Given the description of an element on the screen output the (x, y) to click on. 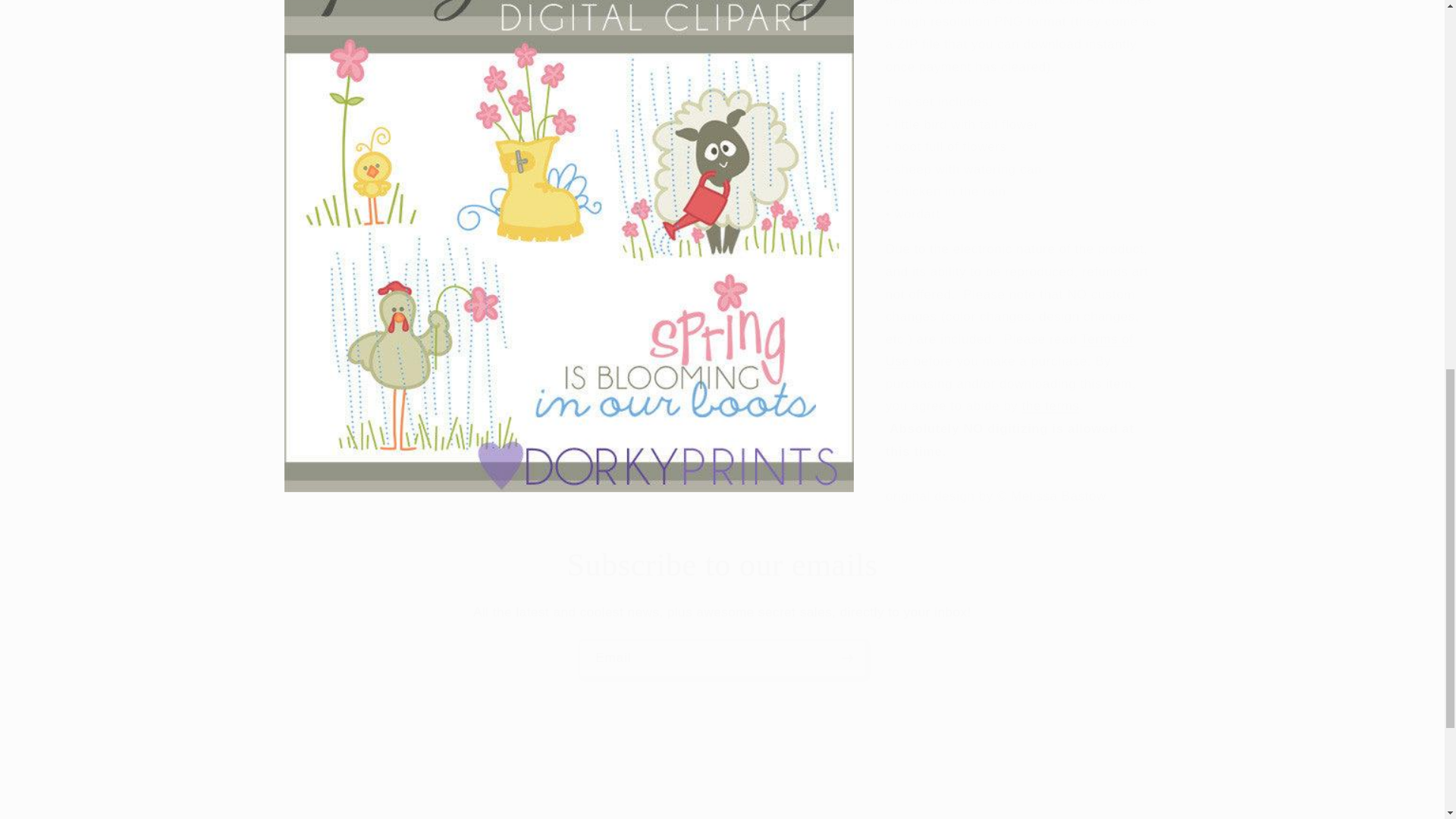
terms of use (1009, 330)
Subscribe to our emails (722, 565)
Email (722, 658)
terms of use (1051, 386)
